Given the description of an element on the screen output the (x, y) to click on. 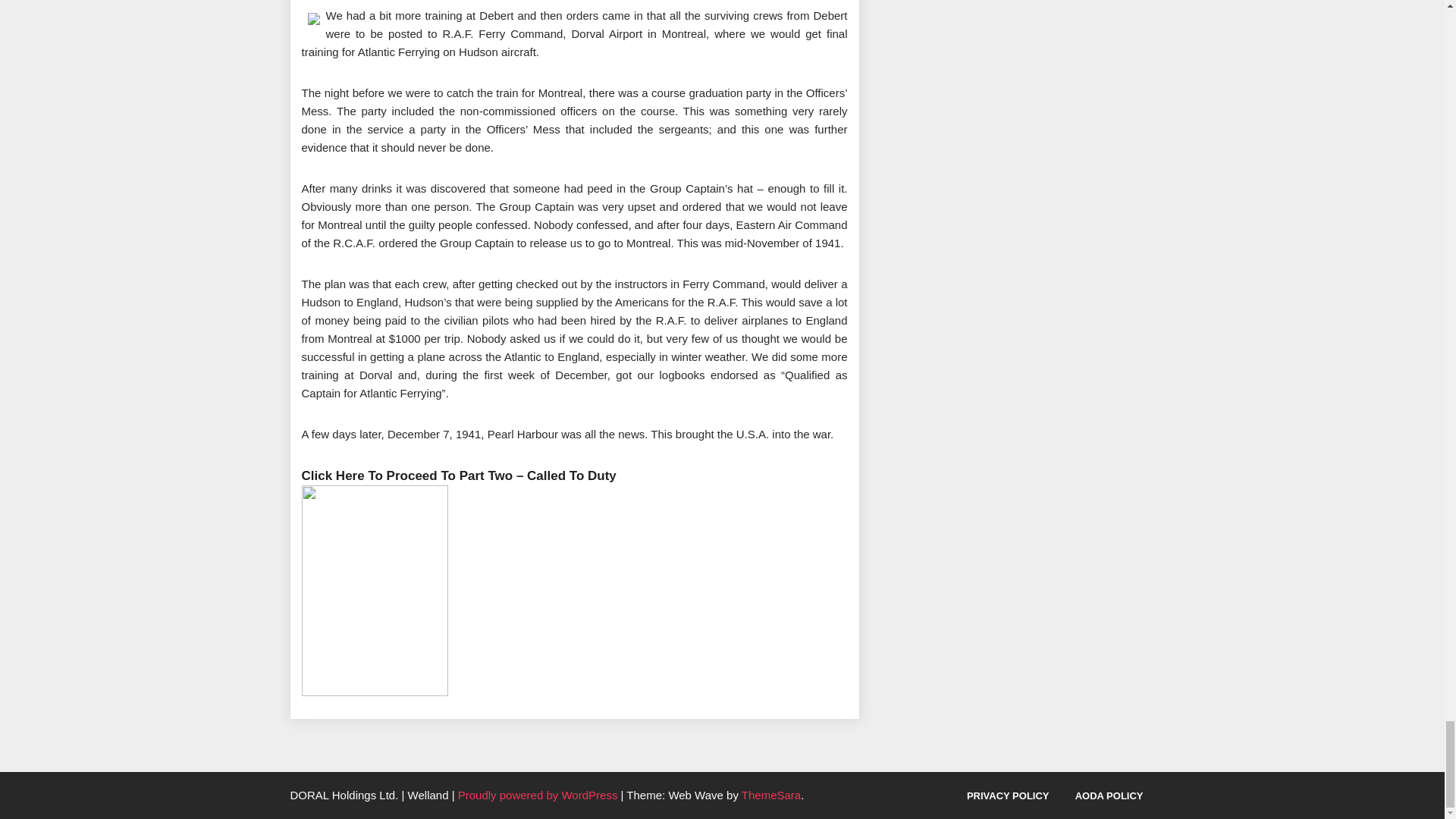
Proudly powered by WordPress (539, 794)
AODA POLICY (1108, 795)
PRIVACY POLICY (1007, 795)
ThemeSara (770, 794)
